Given the description of an element on the screen output the (x, y) to click on. 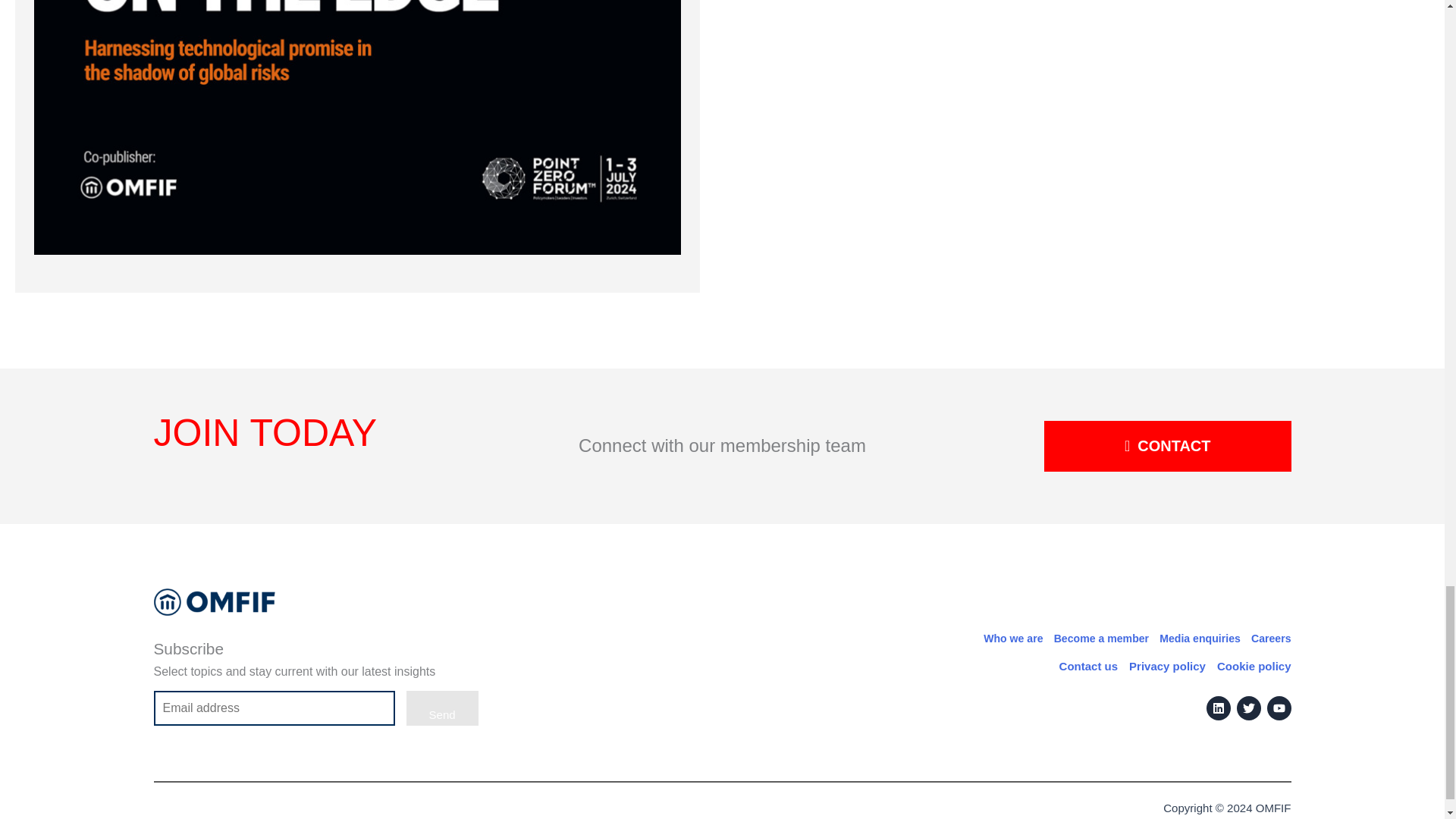
Send (442, 708)
